Given the description of an element on the screen output the (x, y) to click on. 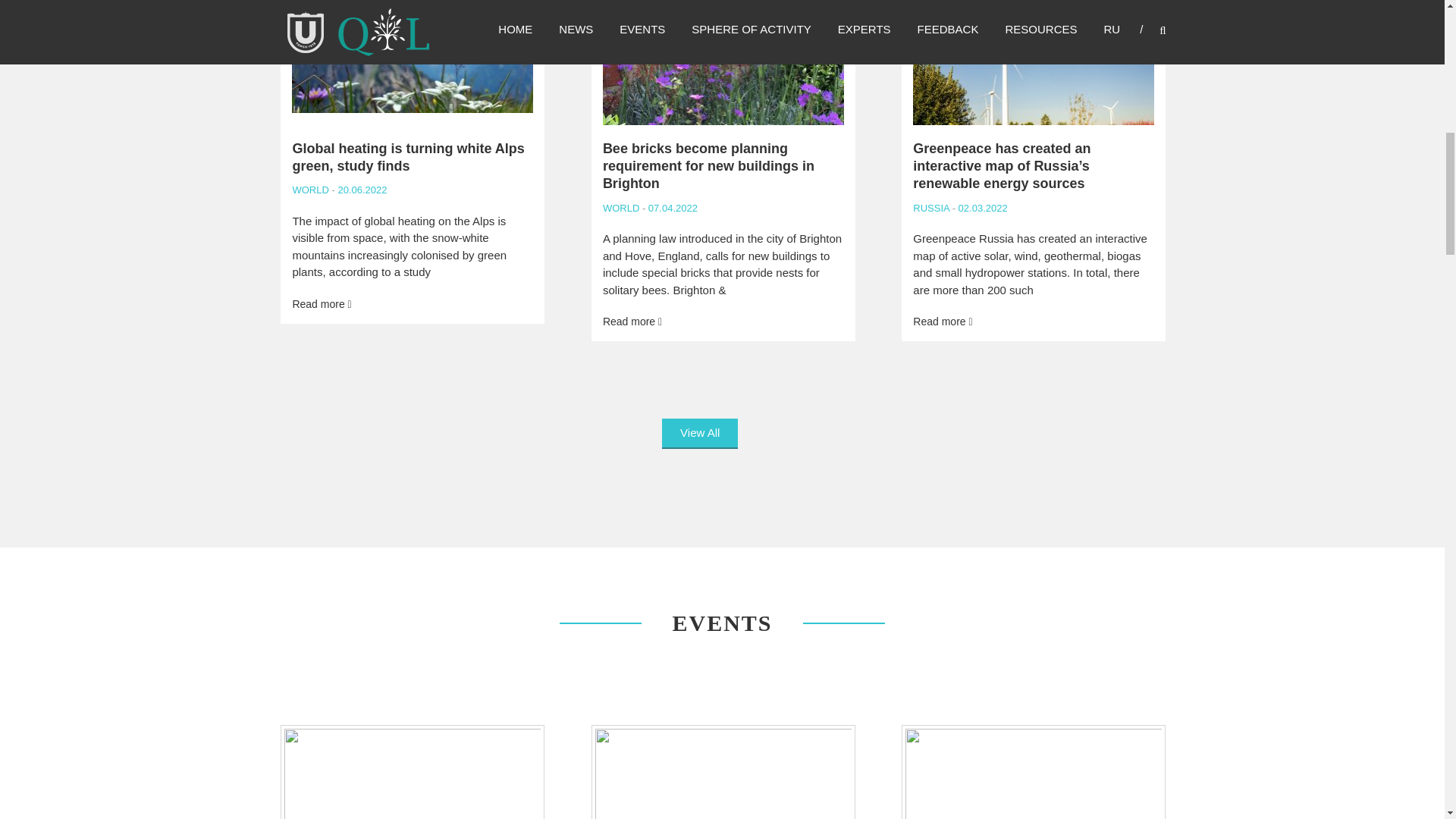
Read more (321, 304)
07.04.2022 (671, 207)
Read more (942, 321)
WORLD (620, 207)
Global heating is turning white Alps green, study finds (321, 304)
09:32 (360, 189)
View All (700, 433)
WORLD (310, 189)
RUSSIA (930, 207)
02.03.2022 (981, 207)
20.06.2022 (360, 189)
Global heating is turning white Alps green, study finds (408, 156)
Global heating is turning white Alps green, study finds (408, 156)
Read more (632, 321)
